Given the description of an element on the screen output the (x, y) to click on. 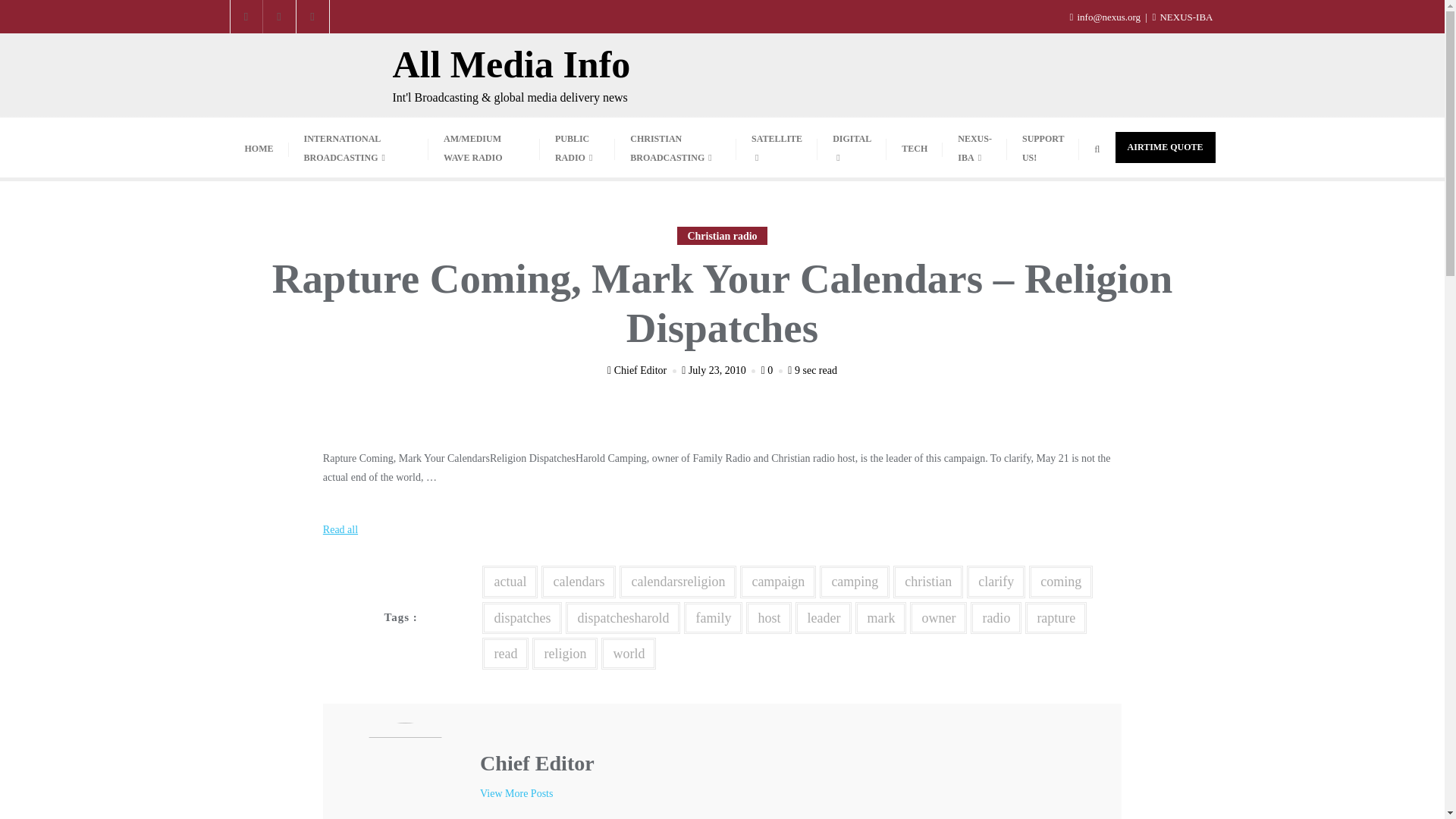
HOME (258, 147)
DIGITAL (851, 147)
INTERNATIONAL BROADCASTING (358, 147)
CHRISTIAN BROADCASTING (675, 147)
PUBLIC RADIO (577, 147)
AIRTIME QUOTE (1165, 146)
NEXUS-IBA (974, 147)
NEXUS-IBA (1181, 16)
SUPPORT US! (1042, 147)
SATELLITE (776, 147)
TECH (914, 147)
